Given the description of an element on the screen output the (x, y) to click on. 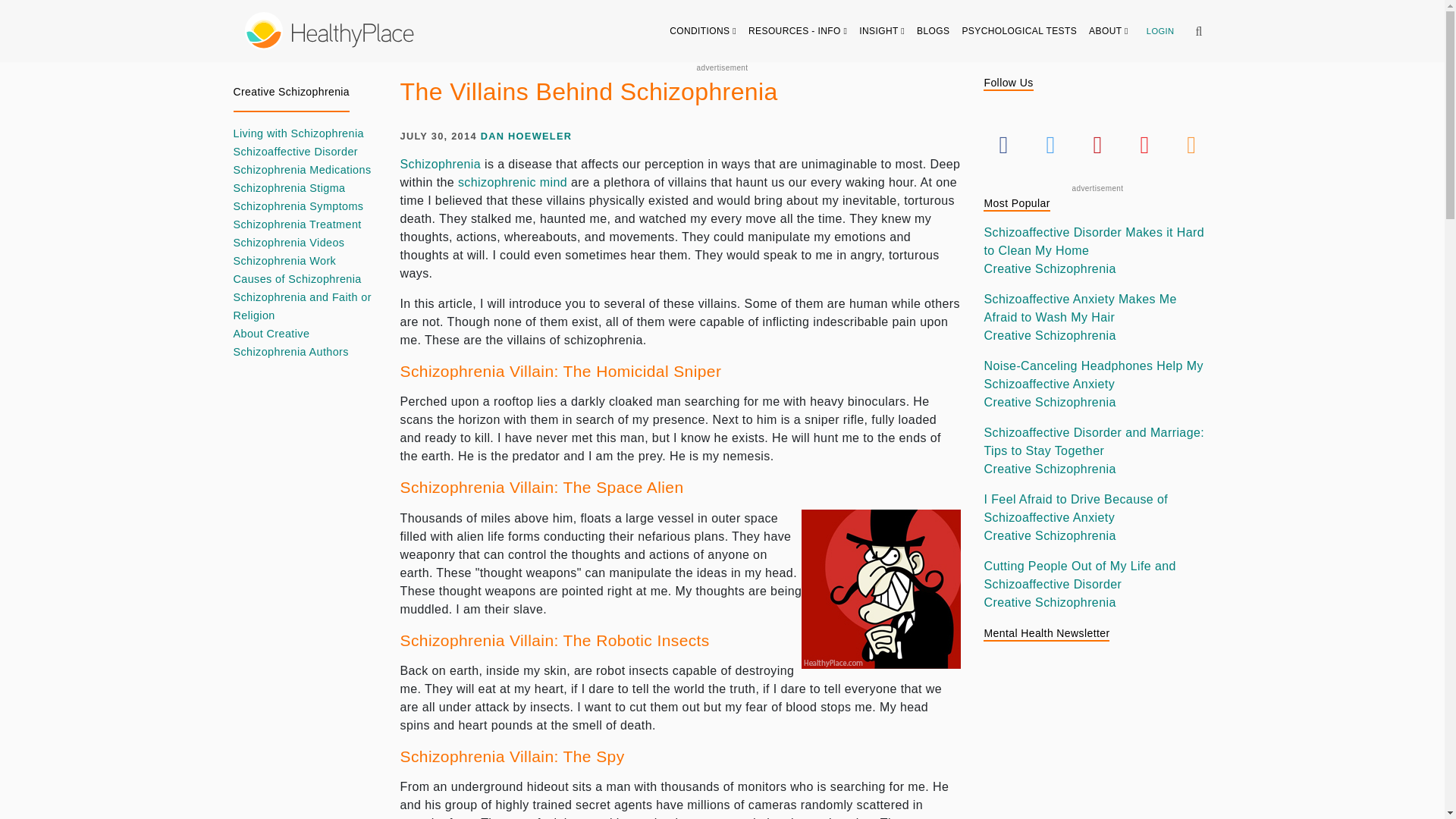
The Villains Behind Schizophrenia (881, 589)
CONDITIONS (702, 31)
RESOURCES - INFO (797, 31)
INSIGHT (882, 31)
What is Schizophrenia (440, 164)
Thought Manipulation And The Psychotic Mind (512, 182)
